Given the description of an element on the screen output the (x, y) to click on. 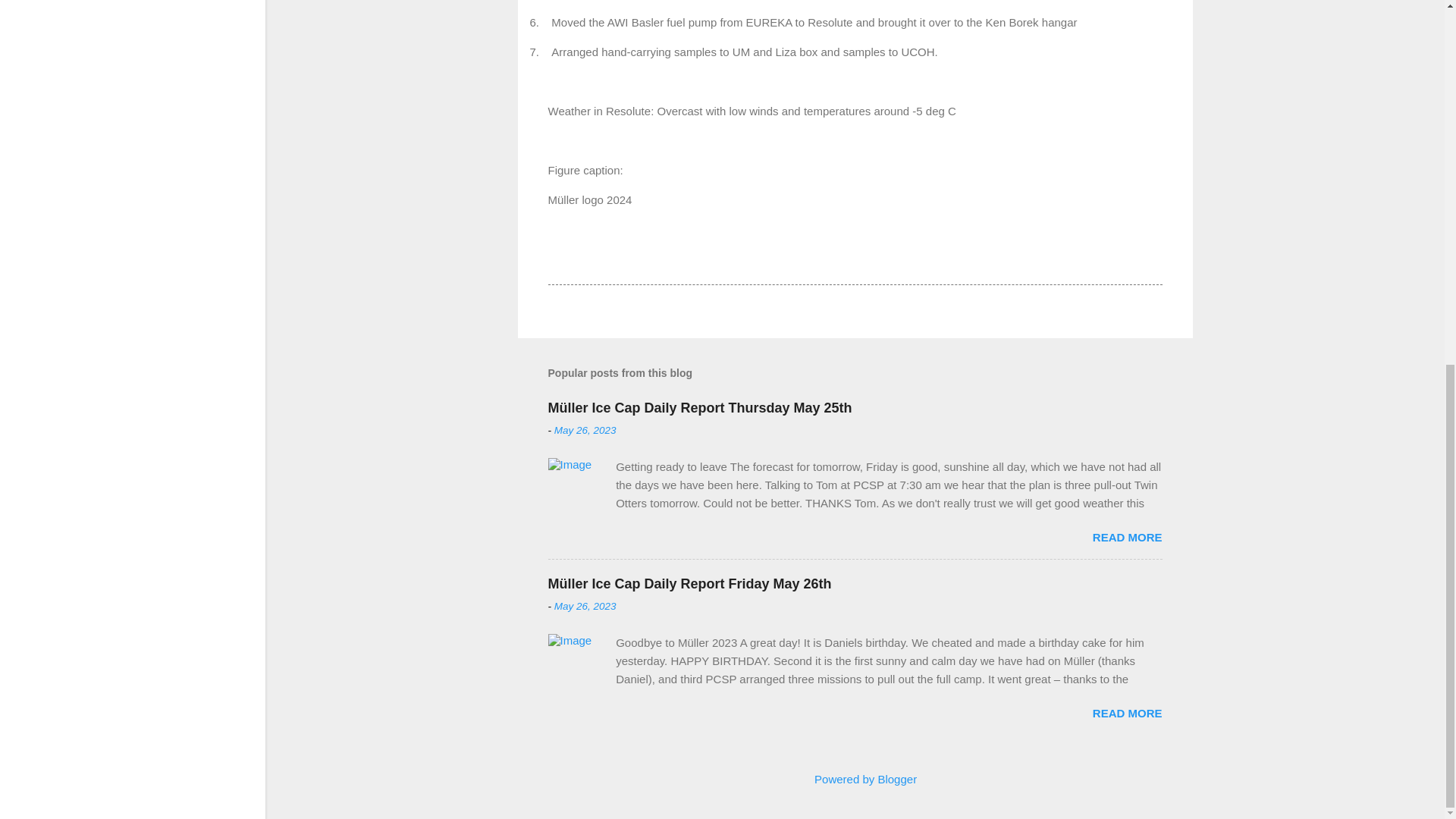
May 26, 2023 (584, 605)
Powered by Blogger (855, 779)
permanent link (584, 430)
READ MORE (1127, 536)
May 26, 2023 (584, 430)
READ MORE (1127, 712)
